Given the description of an element on the screen output the (x, y) to click on. 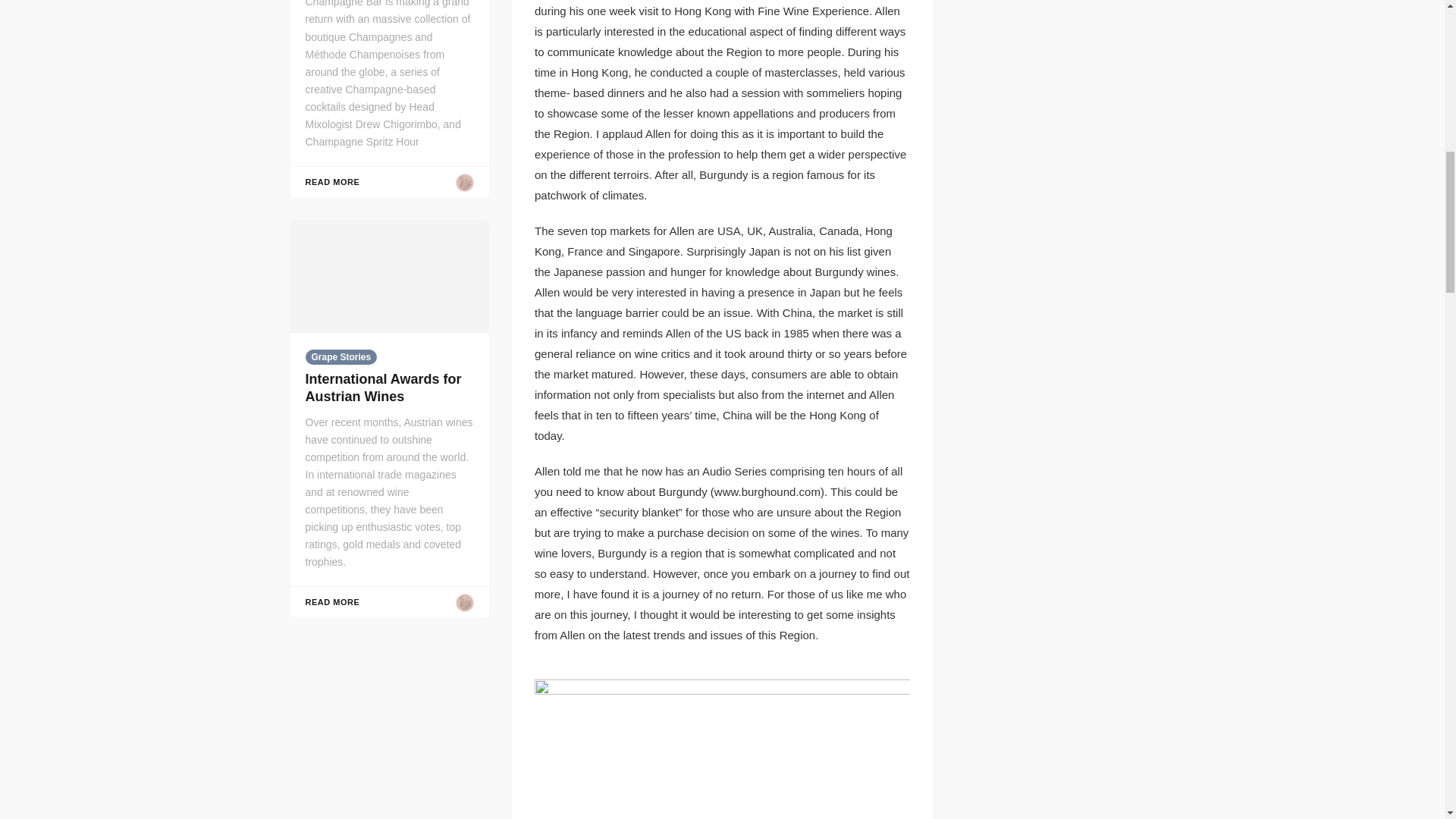
READ MORE (331, 602)
International Awards for Austrian Wines (382, 387)
READ MORE (331, 182)
Grape Stories (340, 356)
